Given the description of an element on the screen output the (x, y) to click on. 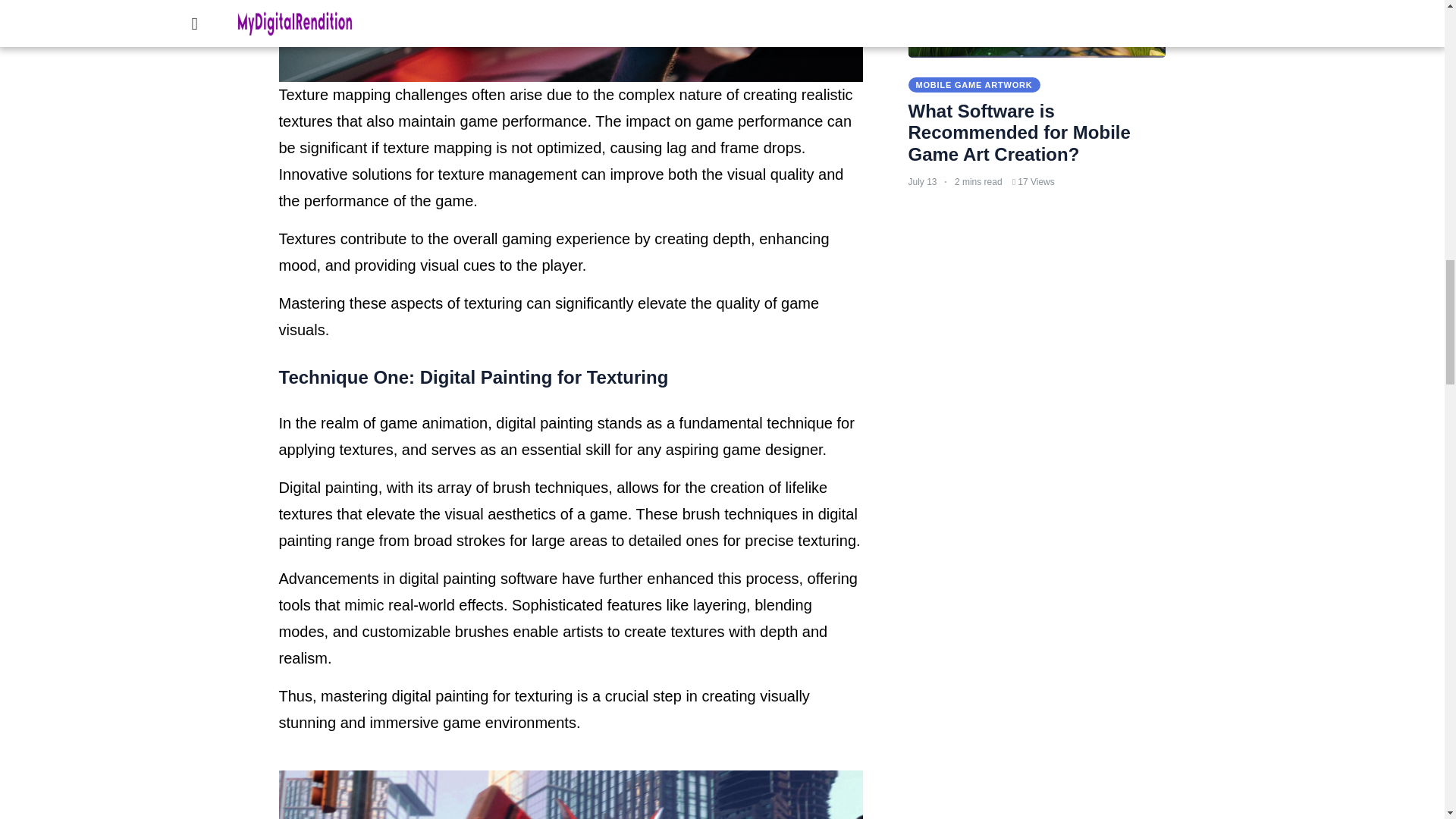
MOBILE GAME ARTWORK (974, 84)
What Software is Recommended for Mobile Game Art Creation? (1019, 132)
